Given the description of an element on the screen output the (x, y) to click on. 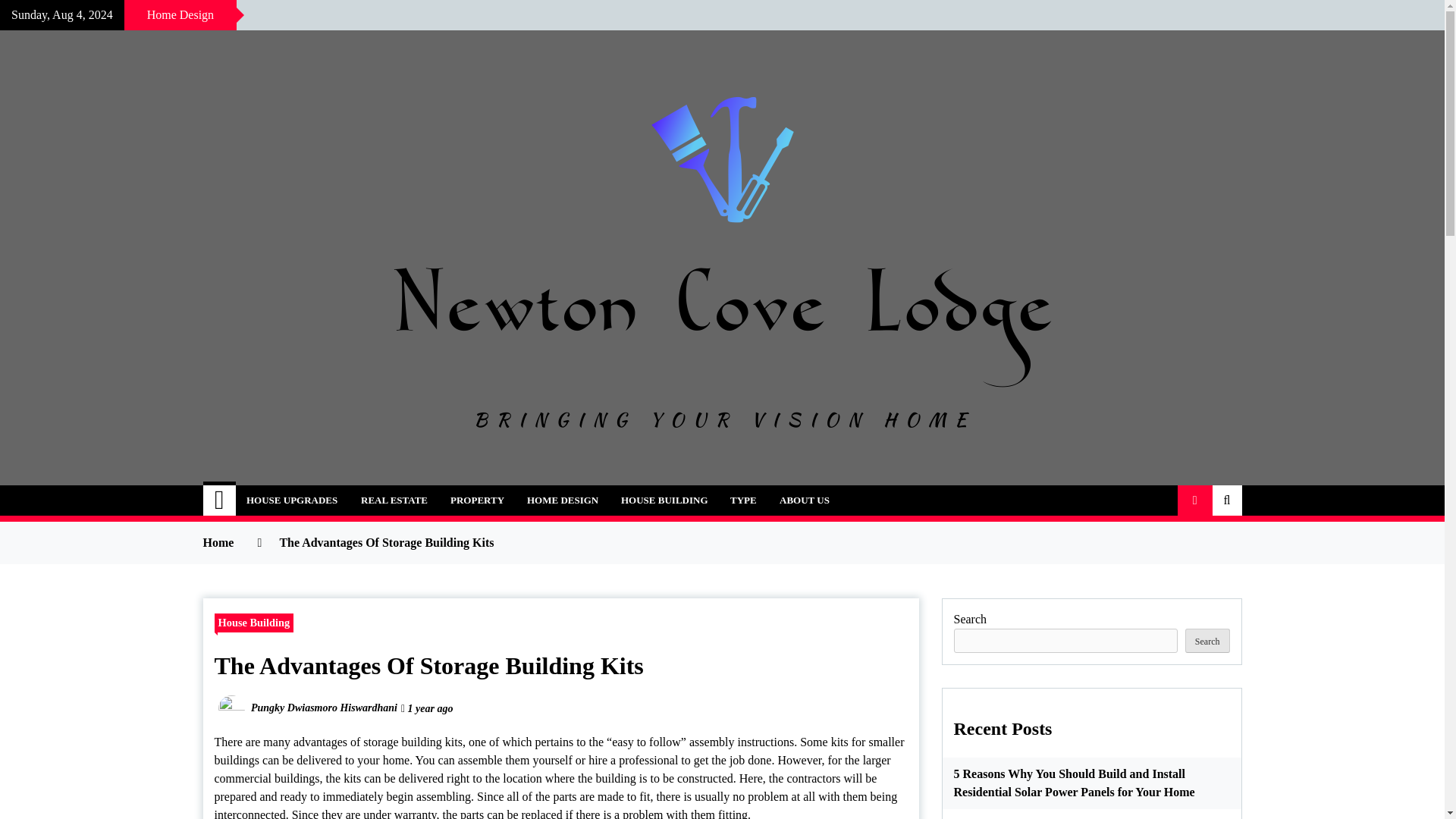
HOUSE UPGRADES (291, 500)
Home (219, 500)
ABOUT US (804, 500)
HOUSE BUILDING (664, 500)
Newton Cove Lodge (354, 491)
PROPERTY (477, 500)
TYPE (743, 500)
HOME DESIGN (562, 500)
REAL ESTATE (394, 500)
